Given the description of an element on the screen output the (x, y) to click on. 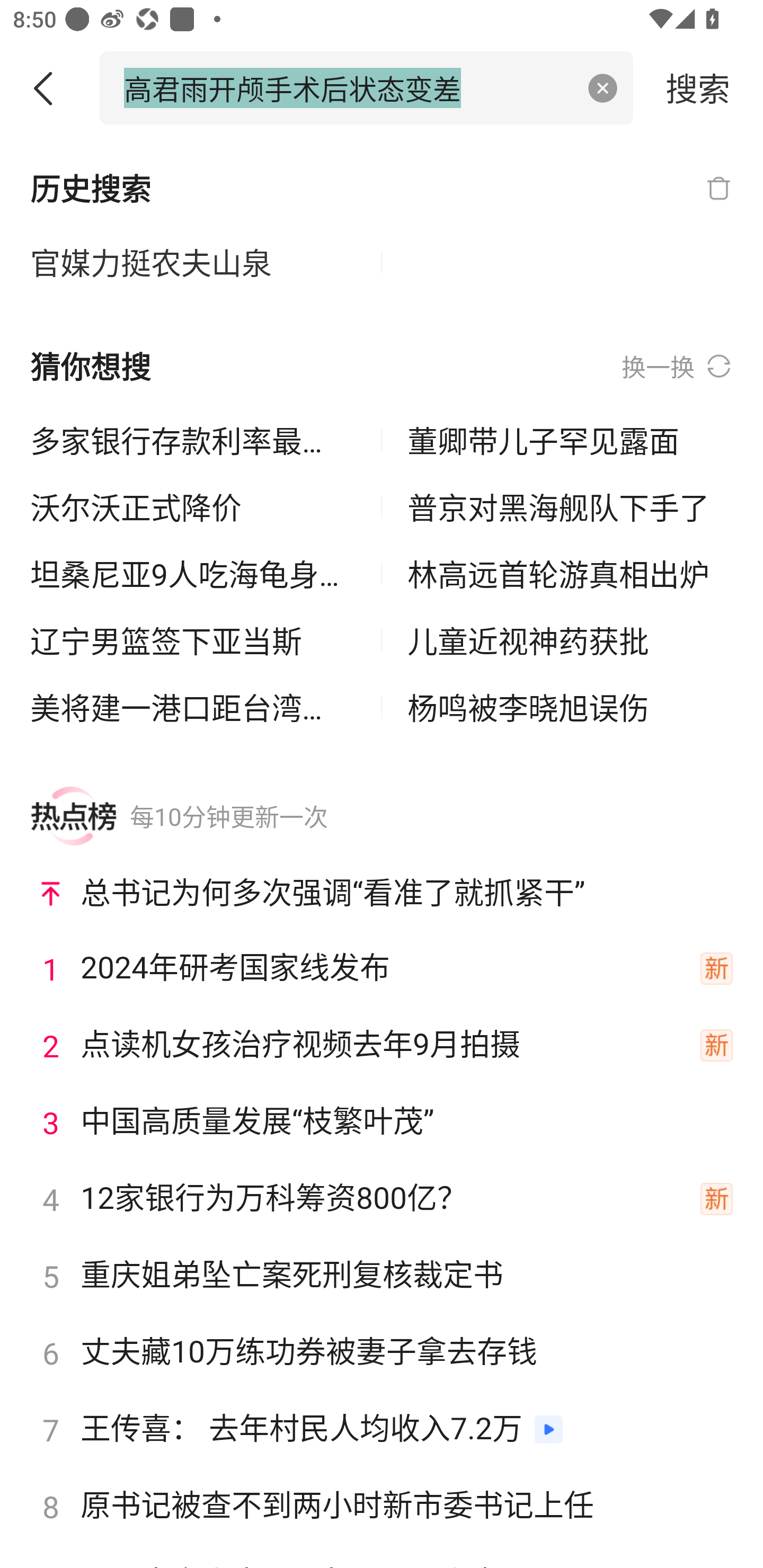
返回 (49, 87)
搜索 (698, 87)
高君雨开颅手术后状态变差 (347, 87)
清空 (602, 88)
官媒力挺农夫山泉 (193, 262)
换一换 (676, 366)
多家银行存款利率最高达10% (193, 439)
董卿带儿子罕见露面 (569, 439)
沃尔沃正式降价 (193, 506)
普京对黑海舰队下手了 (569, 506)
坦桑尼亚9人吃海龟身亡 (193, 573)
林高远首轮游真相出炉 (569, 573)
辽宁男篮签下亚当斯 (193, 640)
儿童近视神药获批 (569, 640)
美将建一港口距台湾不到200公里 (193, 707)
杨鸣被李晓旭误伤 (569, 707)
